Given the description of an element on the screen output the (x, y) to click on. 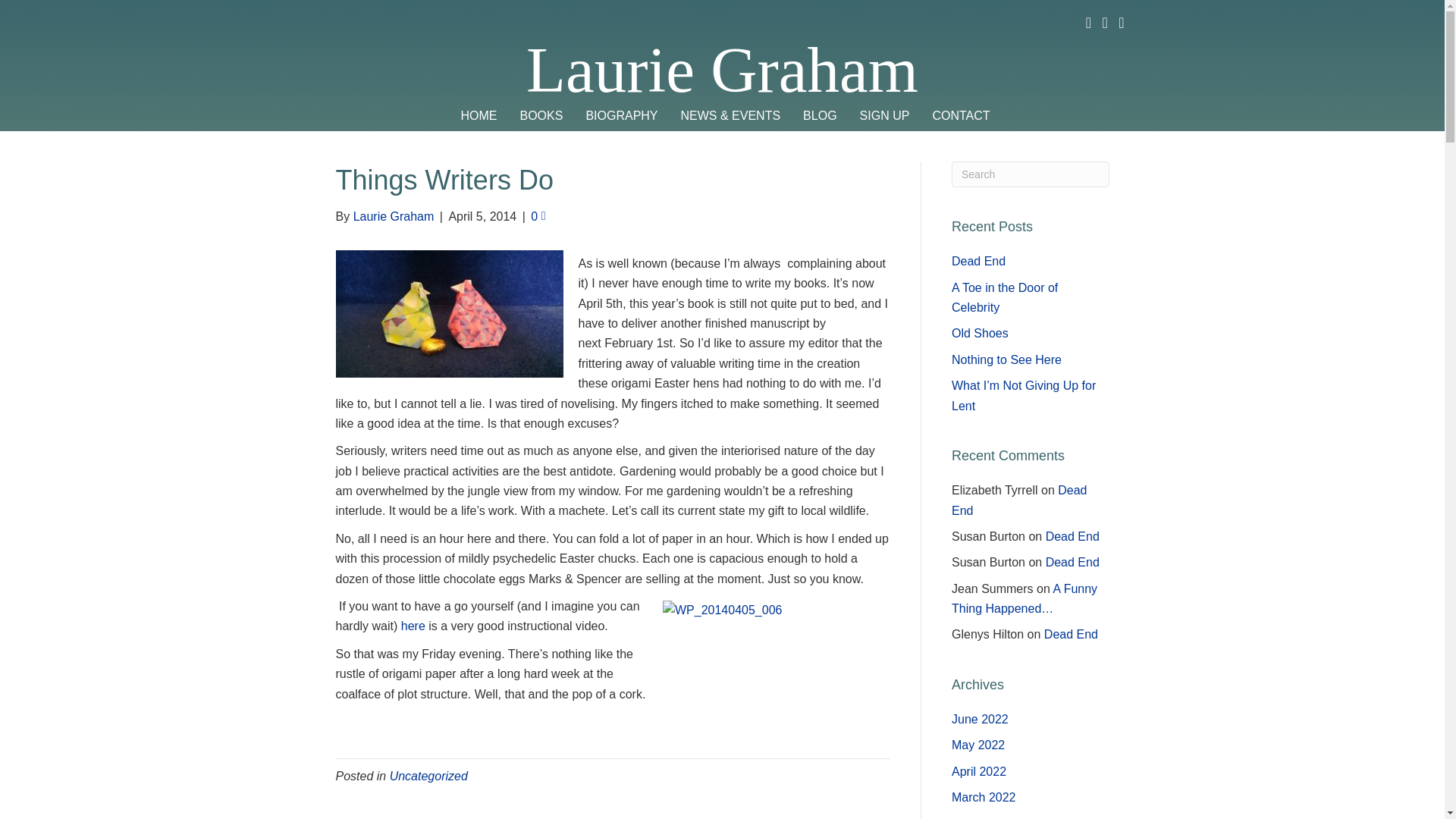
Dead End (1072, 535)
here (414, 625)
A Toe in the Door of Celebrity (1005, 297)
BOOKS (540, 115)
Nothing to See Here (1006, 359)
Laurie Graham (393, 215)
SIGN UP (884, 115)
April 2022 (979, 771)
HOME (478, 115)
May 2022 (978, 744)
